Given the description of an element on the screen output the (x, y) to click on. 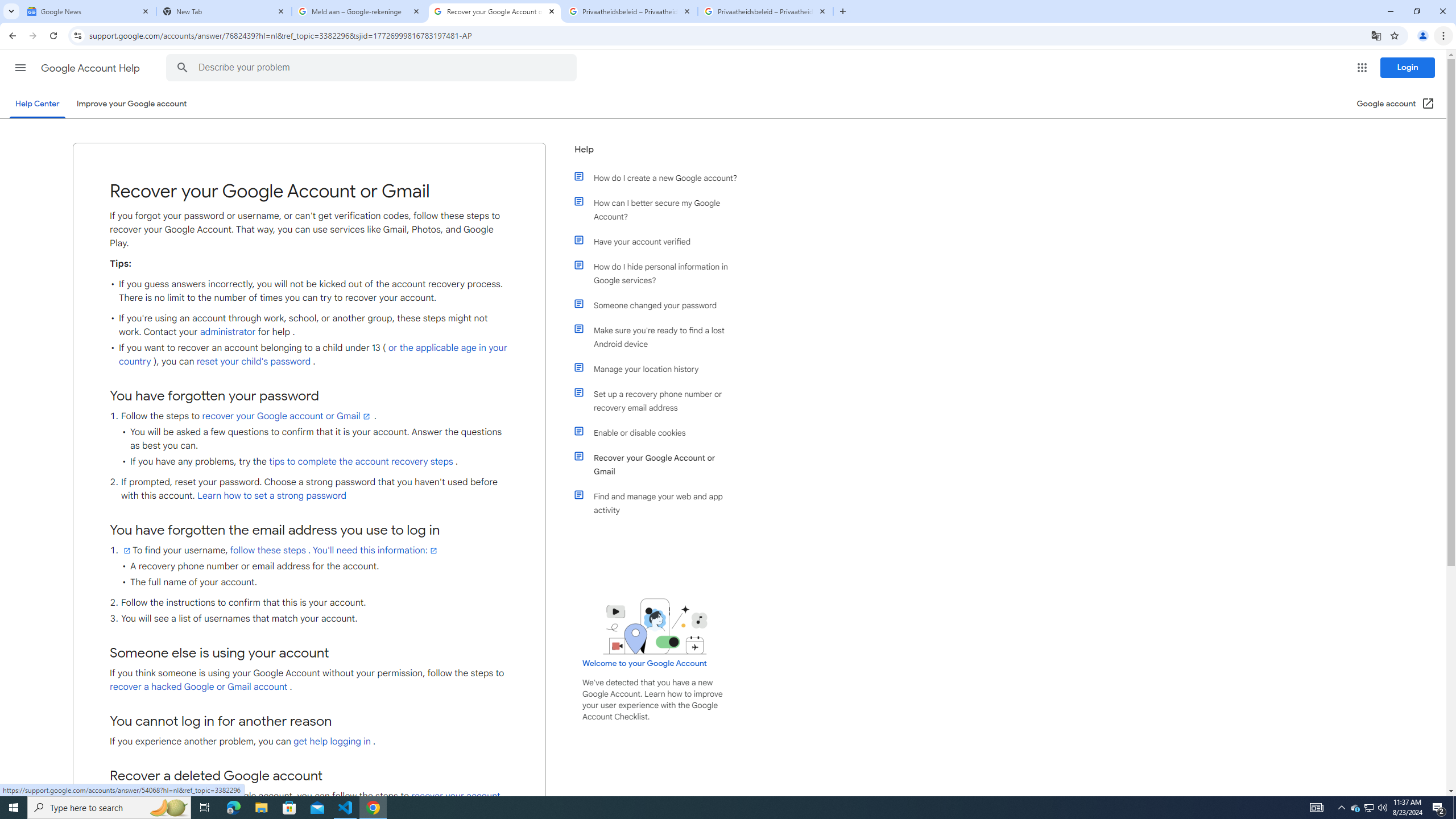
recover your account (455, 795)
reset your child's password (253, 361)
Google News (88, 11)
Enable or disable cookies (661, 432)
Improve your Google account (131, 103)
Find and manage your web and app activity (661, 503)
Learn how to set a strong password (271, 495)
recover your Google account or Gmail (286, 415)
New Tab (224, 11)
Google Account (Opens in new window) (1395, 103)
